Given the description of an element on the screen output the (x, y) to click on. 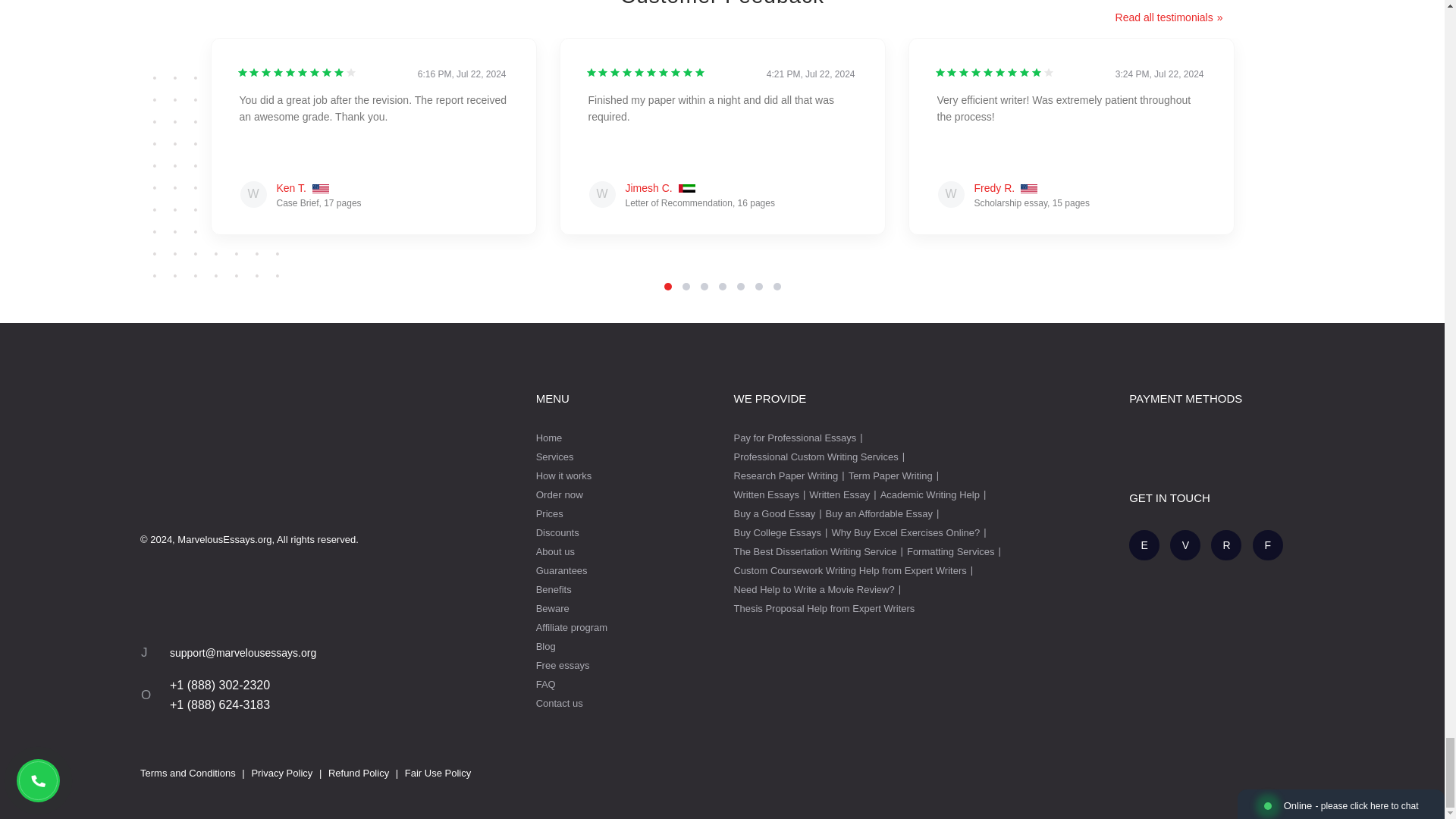
United Arab Emirates (686, 189)
USA (1028, 189)
USA (321, 189)
